Given the description of an element on the screen output the (x, y) to click on. 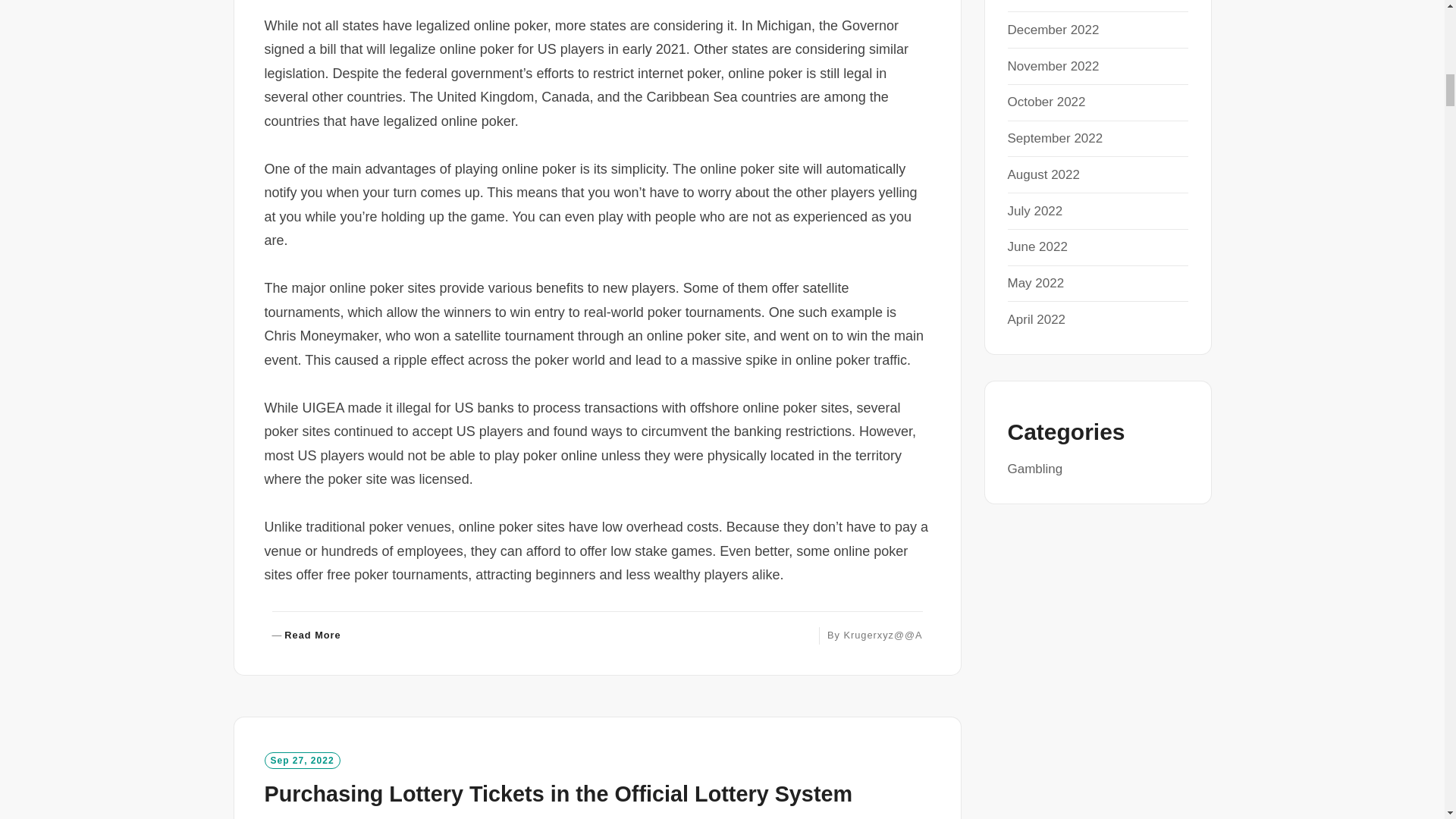
Purchasing Lottery Tickets in the Official Lottery System (557, 793)
Sep 27, 2022 (301, 760)
